Given the description of an element on the screen output the (x, y) to click on. 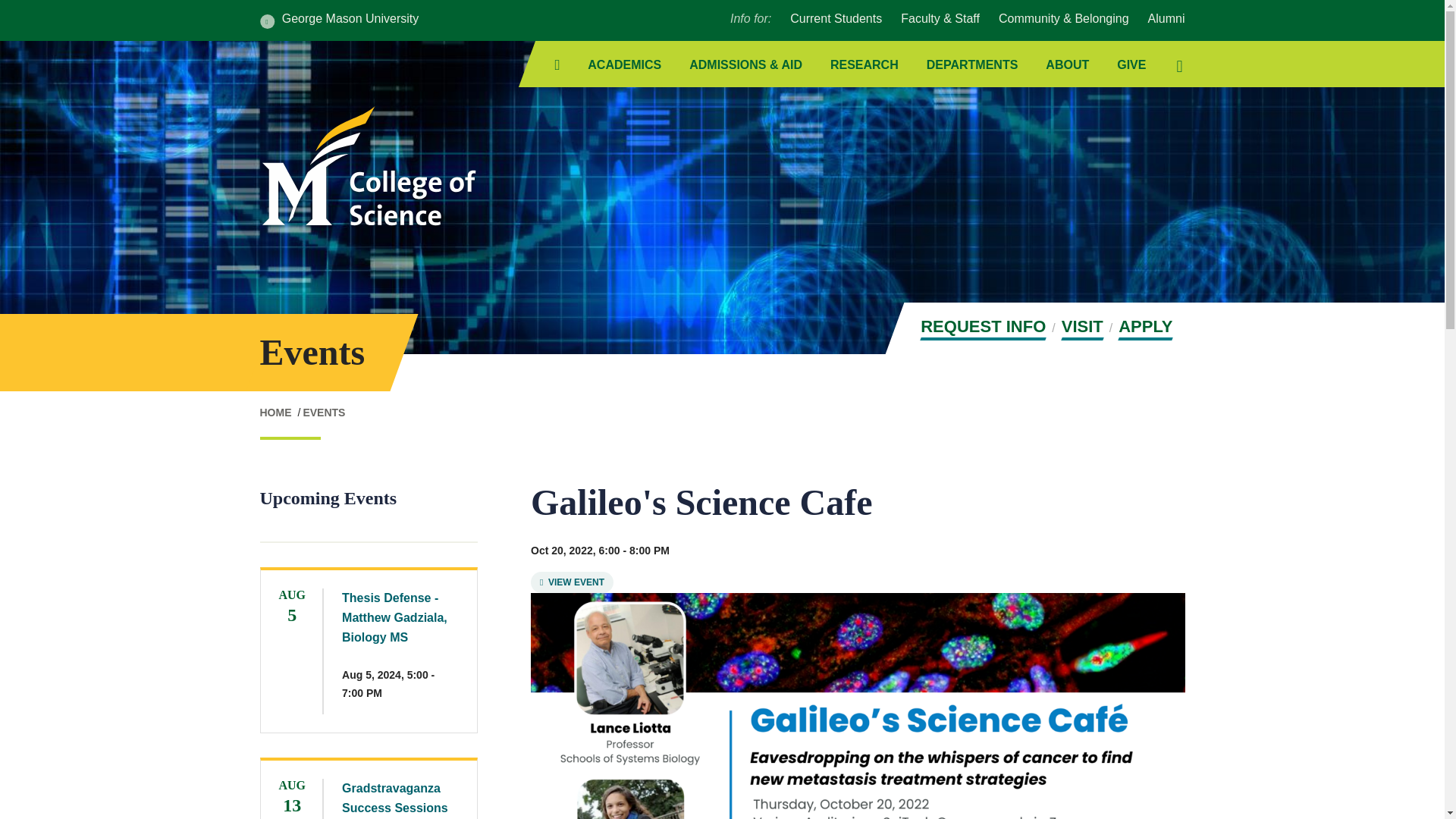
VISIT (1082, 328)
ABOUT (1067, 65)
HOME (275, 412)
REQUEST INFO (982, 328)
Gradstravaganza Success Sessions (395, 798)
RESEARCH (863, 65)
George Mason University (339, 20)
ACADEMICS (624, 65)
Thesis Defense - Matthew Gadziala, Biology MS (394, 617)
DEPARTMENTS (971, 65)
EVENTS (323, 412)
Alumni (1166, 18)
GIVE (1130, 65)
Current Students (836, 18)
VIEW EVENT (571, 581)
